Given the description of an element on the screen output the (x, y) to click on. 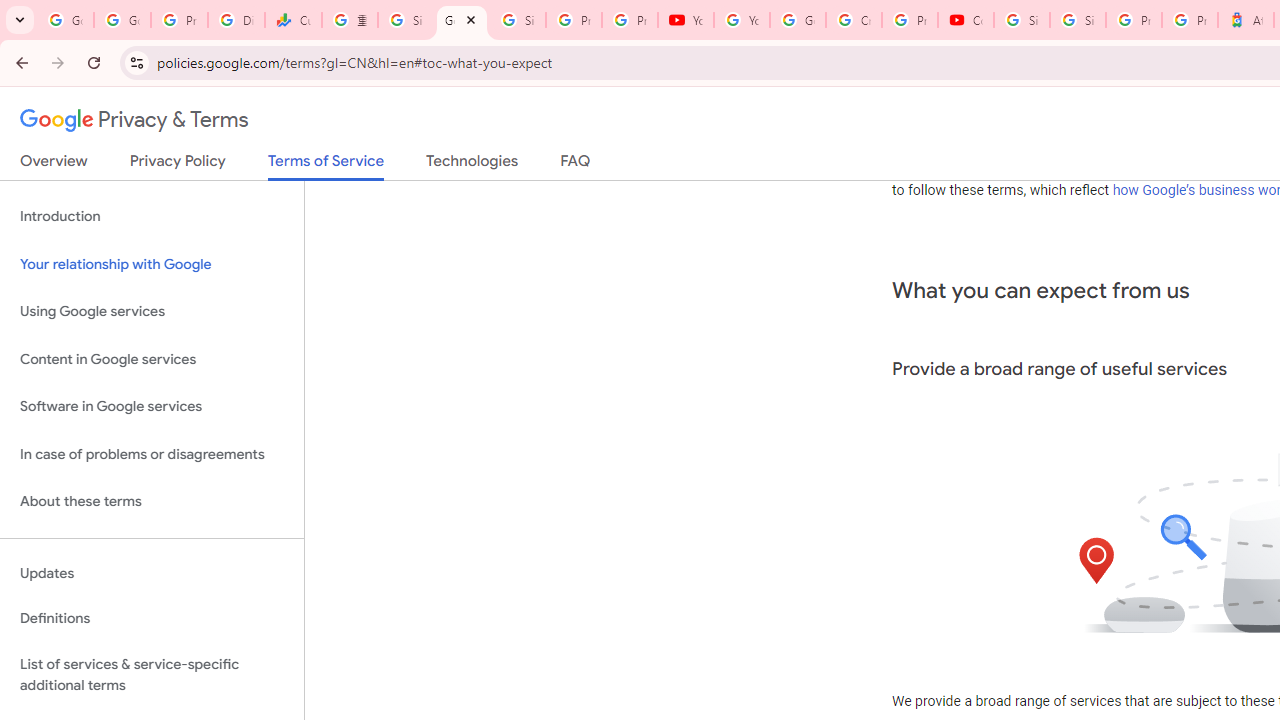
YouTube (685, 20)
Software in Google services (152, 407)
Create your Google Account (853, 20)
In case of problems or disagreements (152, 453)
YouTube (742, 20)
